Given the description of an element on the screen output the (x, y) to click on. 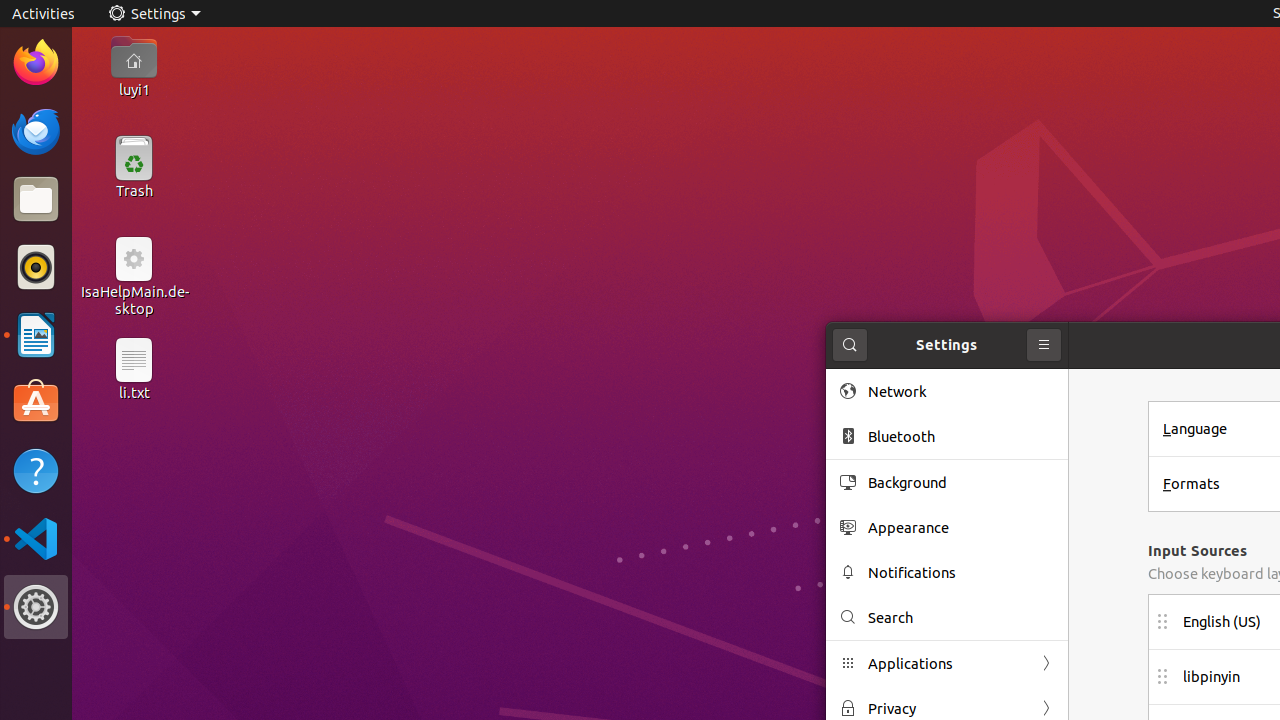
LibreOffice Writer Element type: push-button (36, 334)
Ubuntu Software Element type: push-button (36, 402)
Firefox Web Browser Element type: push-button (36, 63)
